Given the description of an element on the screen output the (x, y) to click on. 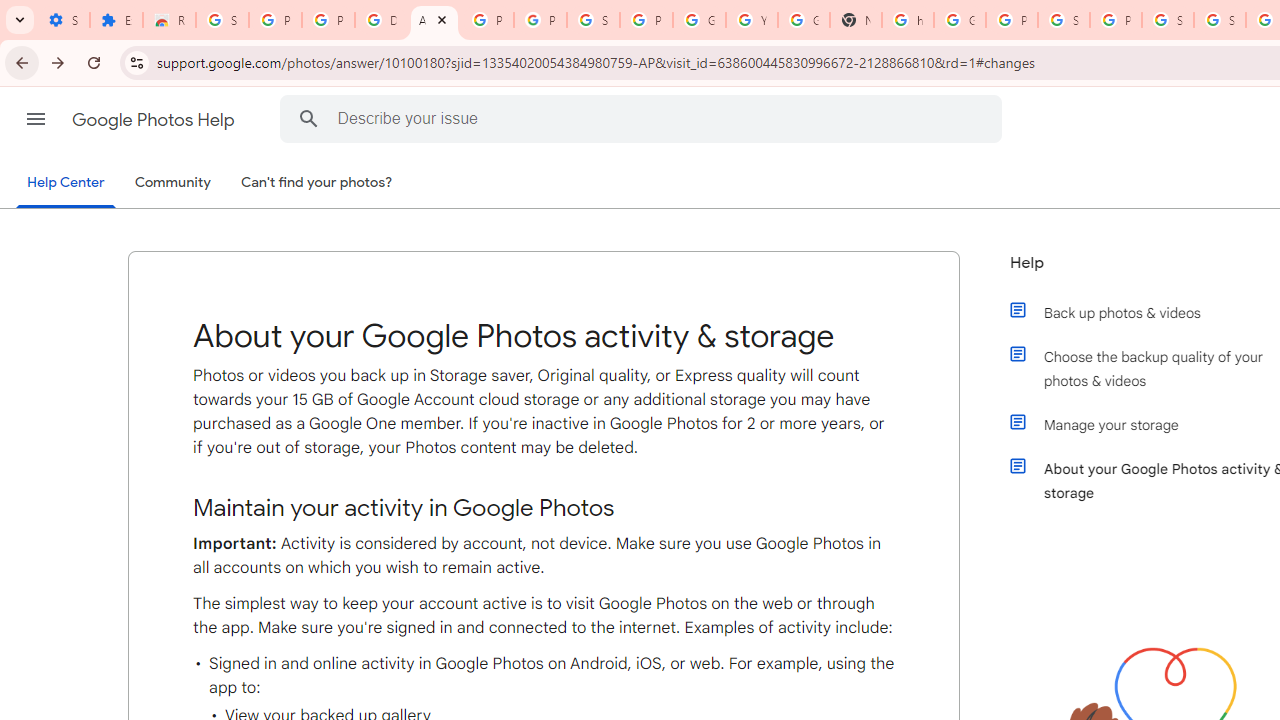
Community (171, 183)
Google Photos Help (155, 119)
Settings - On startup (63, 20)
